Given the description of an element on the screen output the (x, y) to click on. 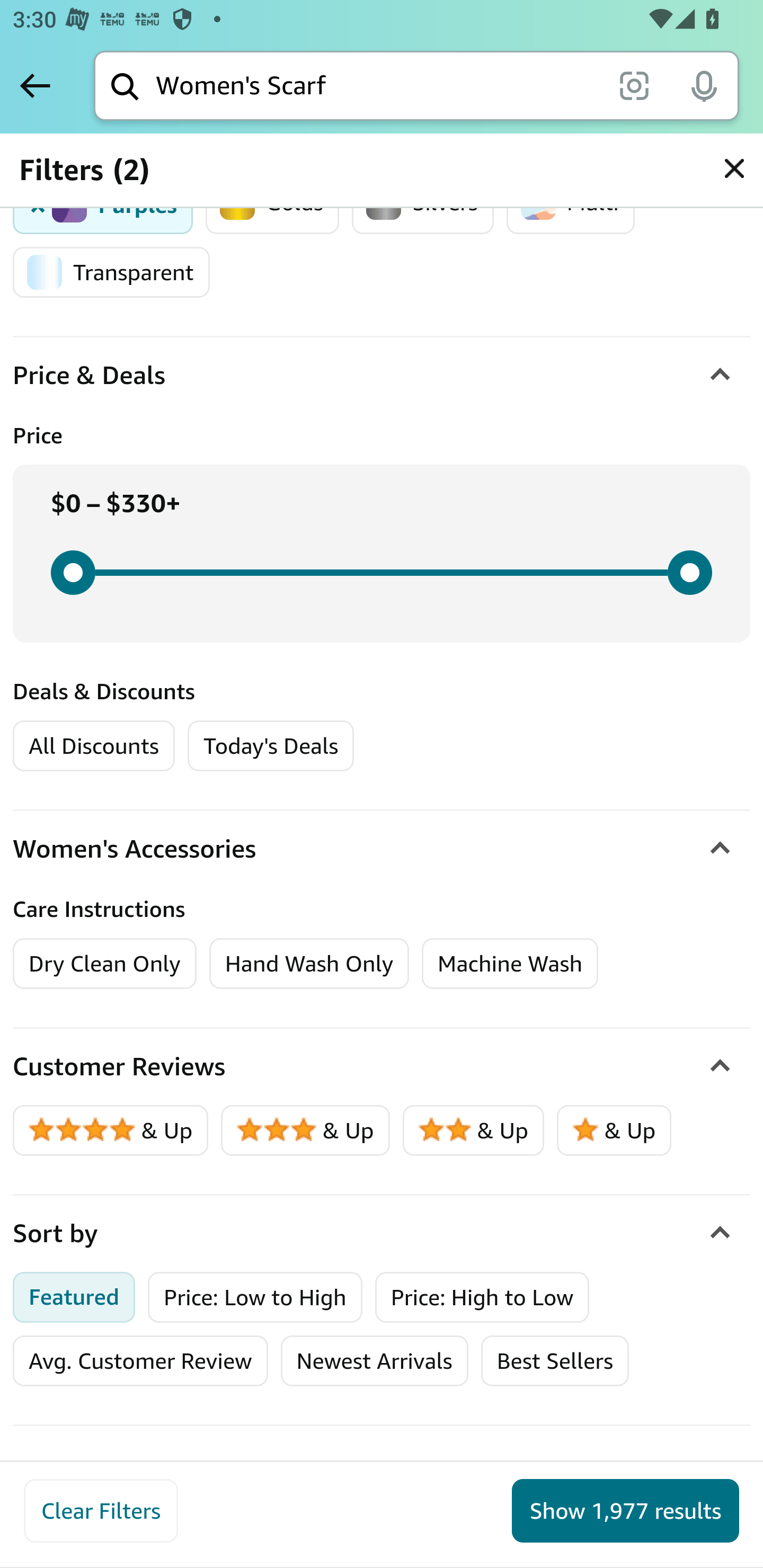
Back (35, 85)
scan it (633, 85)
Transparent Transparent Transparent Transparent (110, 272)
Price & Deals (381, 376)
All Discounts (93, 746)
Today's Deals (270, 746)
Women's Accessories (381, 849)
Dry Clean Only (104, 963)
Hand Wash Only (309, 963)
Machine Wash (509, 963)
Customer Reviews (381, 1066)
4 Stars & Up (110, 1130)
3 Stars & Up (305, 1130)
2 Stars & Up (473, 1130)
1 Star & Up (614, 1130)
Sort by (381, 1233)
Price: Low to High (255, 1297)
Price: High to Low (481, 1297)
Avg. Customer Review (140, 1360)
Newest Arrivals (374, 1360)
Best Sellers (554, 1360)
Clear Filters (100, 1510)
Show 1,977 results (625, 1510)
